Given the description of an element on the screen output the (x, y) to click on. 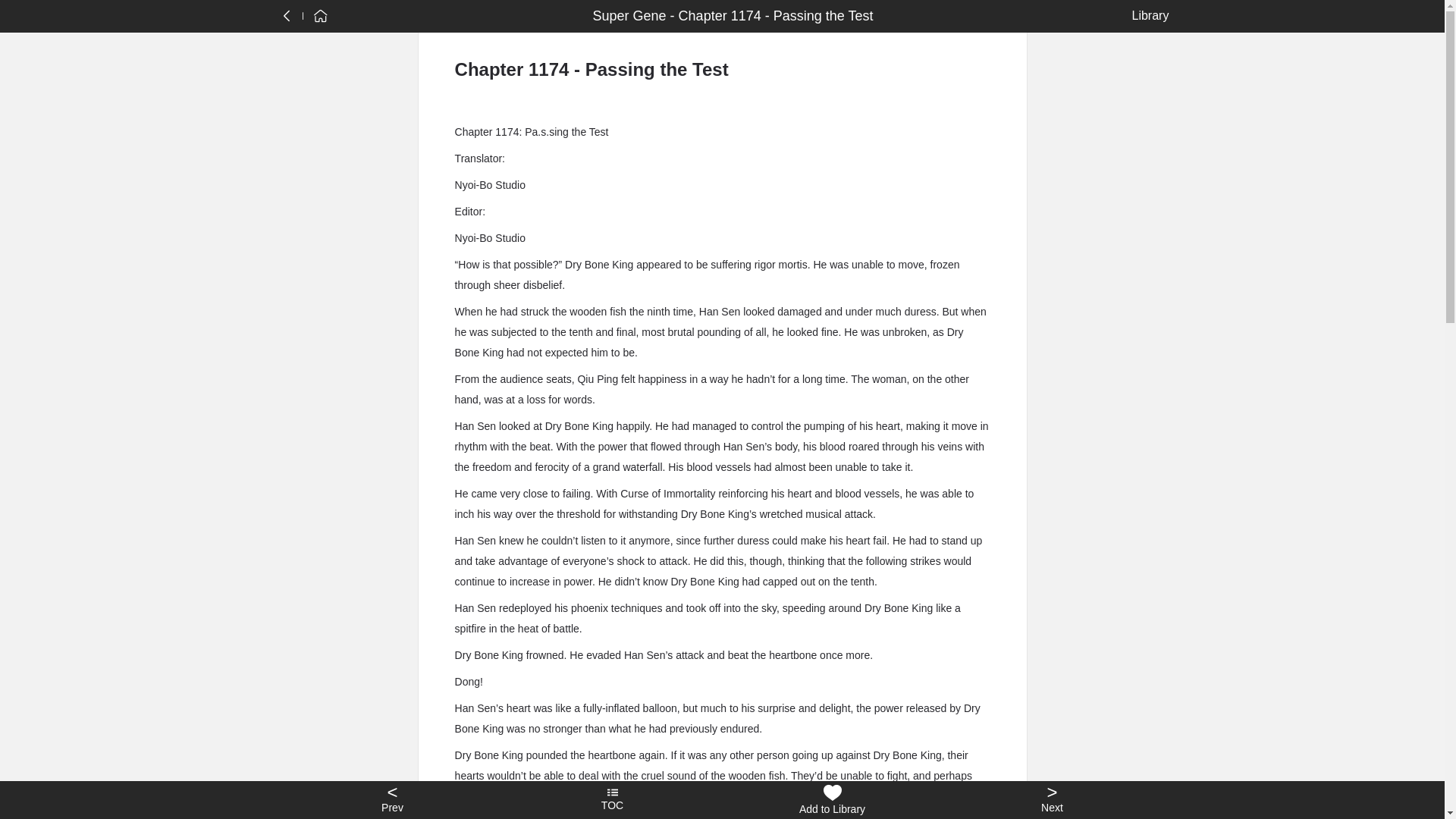
Add to Library (832, 800)
TOC (612, 800)
Library (1146, 15)
